Given the description of an element on the screen output the (x, y) to click on. 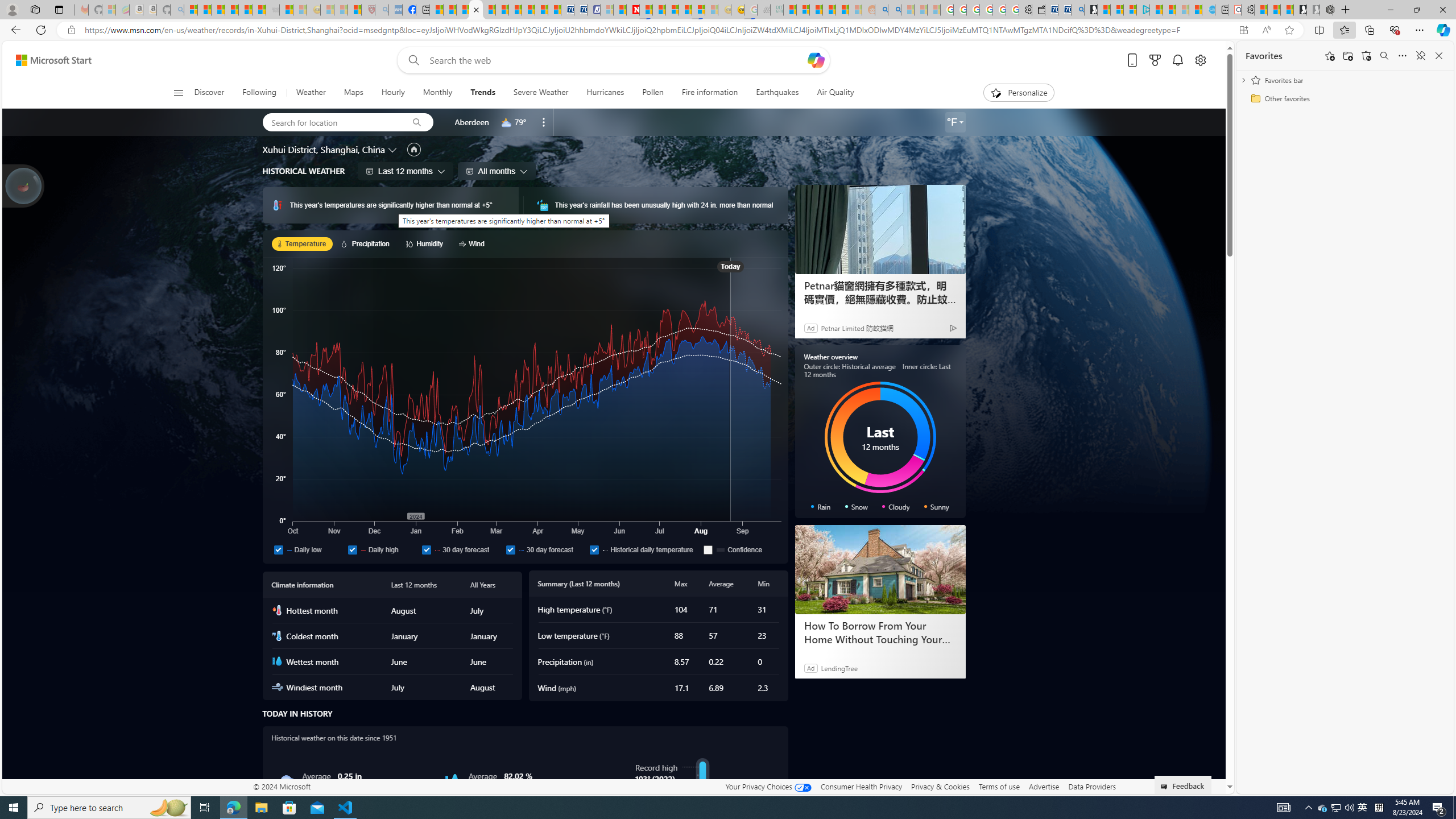
Join us in planting real trees to help our planet! (23, 184)
Historical daily temperature (643, 549)
Trends (482, 92)
Severe Weather (540, 92)
Pollen (652, 92)
